Given the description of an element on the screen output the (x, y) to click on. 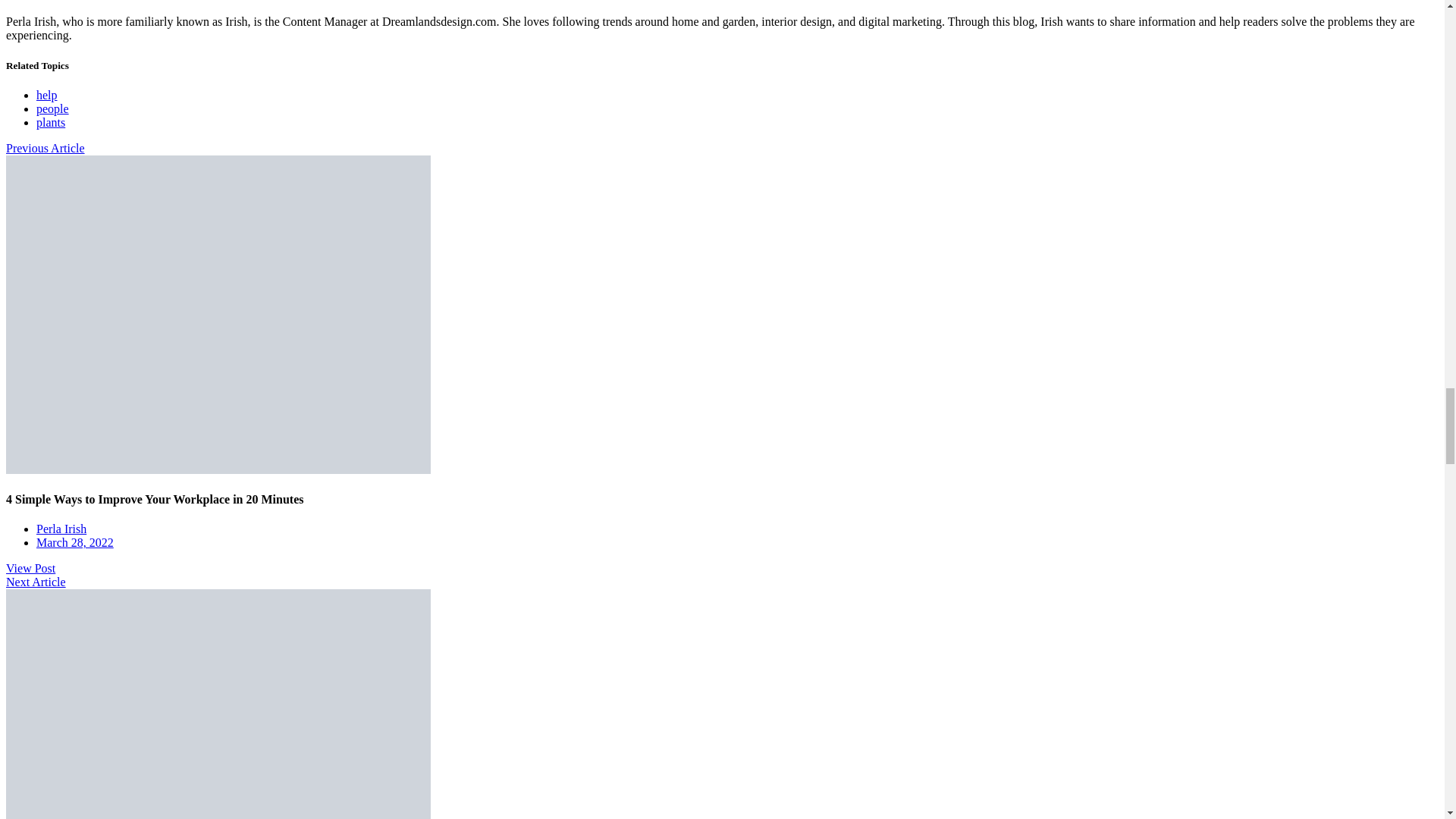
View all posts by Perla Irish (60, 528)
